Given the description of an element on the screen output the (x, y) to click on. 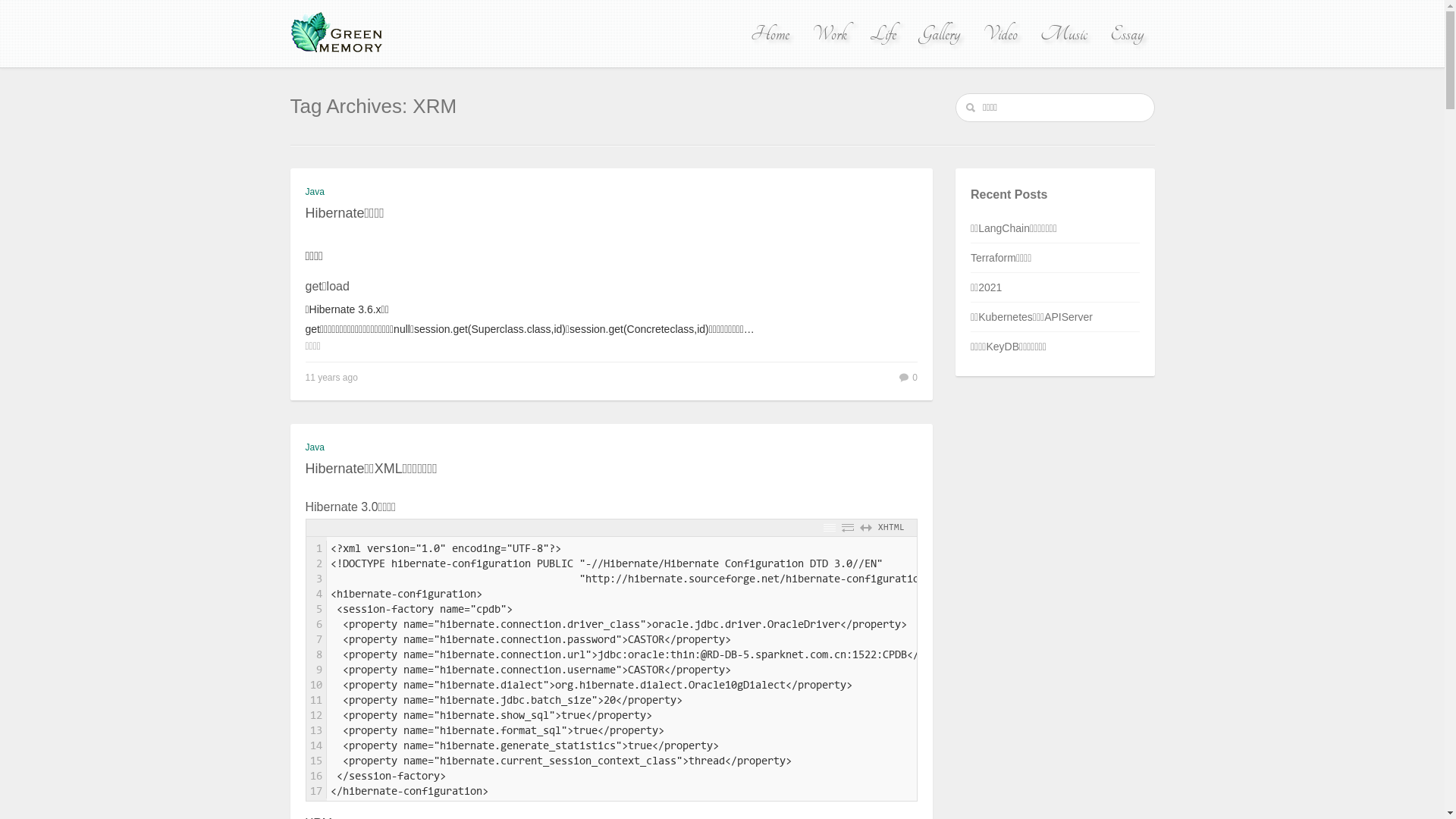
Java Element type: text (313, 191)
Toggle Line Numbers Element type: hover (829, 527)
Music Element type: text (1063, 34)
Toggle Line Wrap Element type: hover (847, 527)
Contains Mixed Languages Element type: hover (913, 527)
Home Element type: text (770, 34)
https://blog.gmem.cc Element type: hover (337, 33)
Expand Code Element type: hover (865, 527)
Gallery Element type: text (939, 34)
Life Element type: text (882, 34)
Work Element type: text (828, 34)
Java Element type: text (313, 447)
Essay Element type: text (1126, 34)
Video Element type: text (1000, 34)
